Given the description of an element on the screen output the (x, y) to click on. 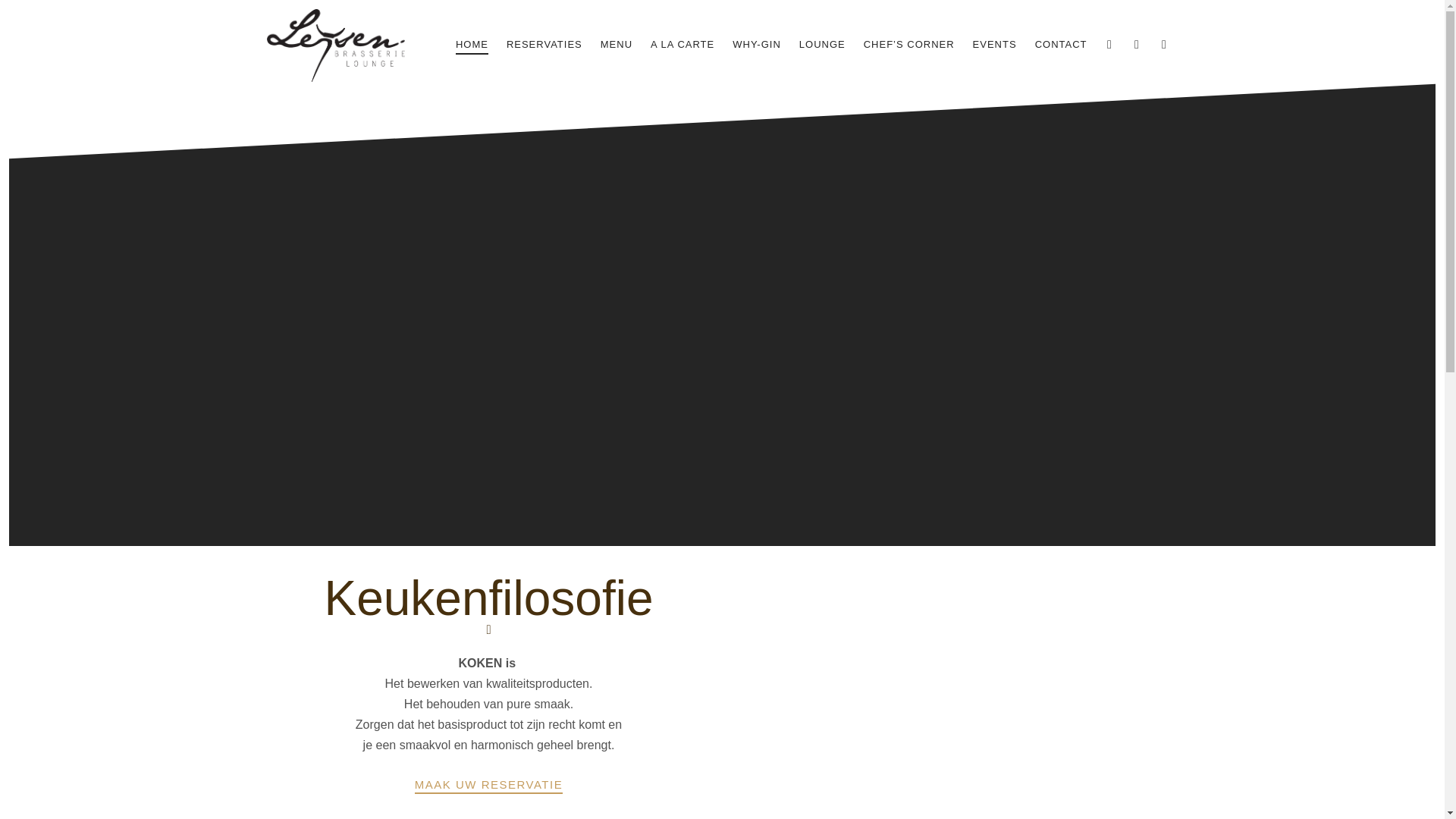
EVENTS Element type: text (994, 44)
TRIPADVISOR Element type: text (1164, 43)
HOME Element type: text (471, 45)
LOUNGE Element type: text (822, 44)
MAAK UW RESERVATIE Element type: text (488, 784)
RESERVATIES Element type: text (544, 44)
CONTACT Element type: text (1061, 44)
INSTAGRAM Element type: text (1137, 43)
MENU Element type: text (616, 44)
A LA CARTE Element type: text (682, 44)
WHY-GIN Element type: text (756, 44)
FACEBOOK Element type: text (1109, 43)
